Given the description of an element on the screen output the (x, y) to click on. 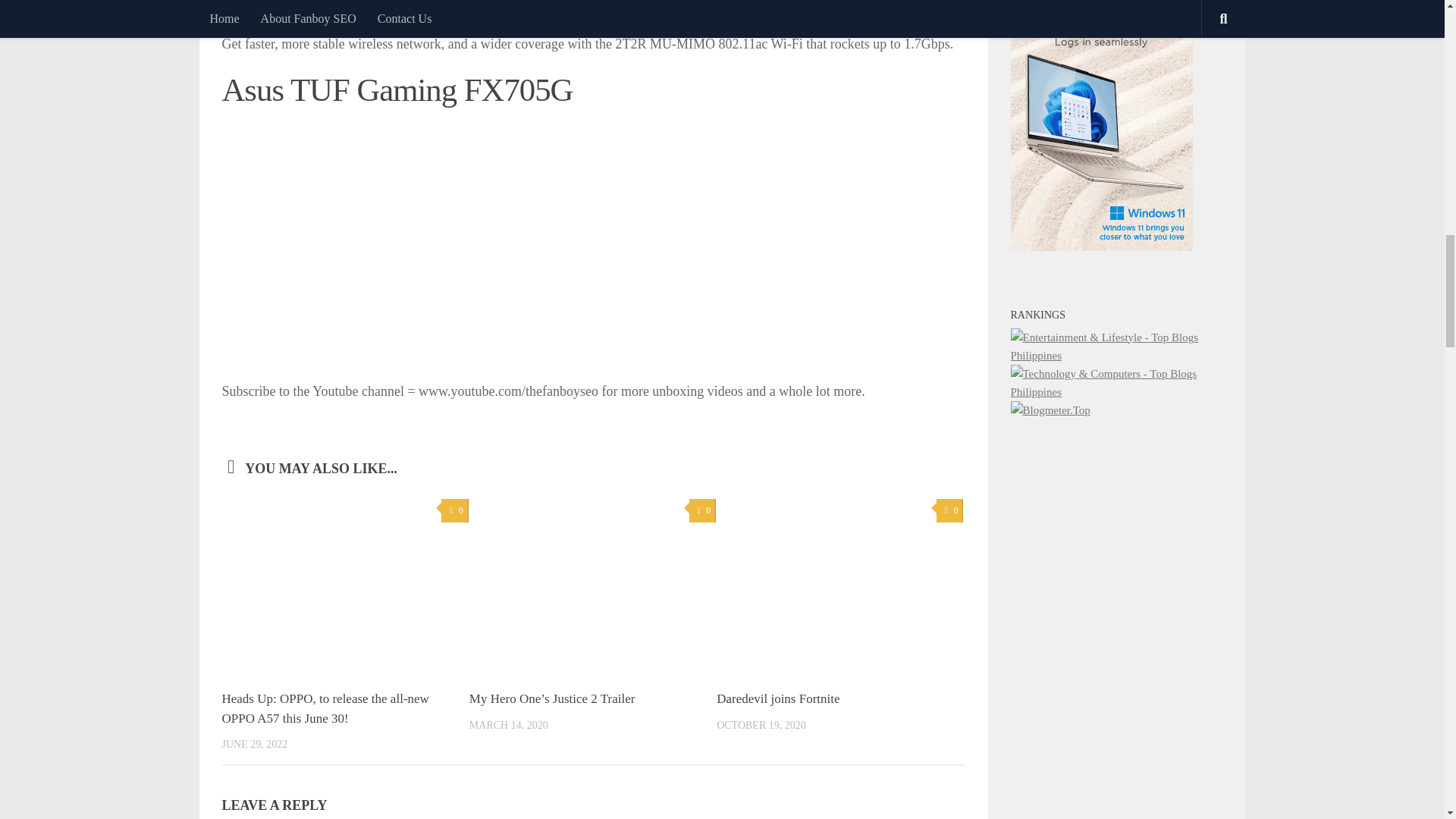
0 (702, 510)
0 (454, 510)
